Given the description of an element on the screen output the (x, y) to click on. 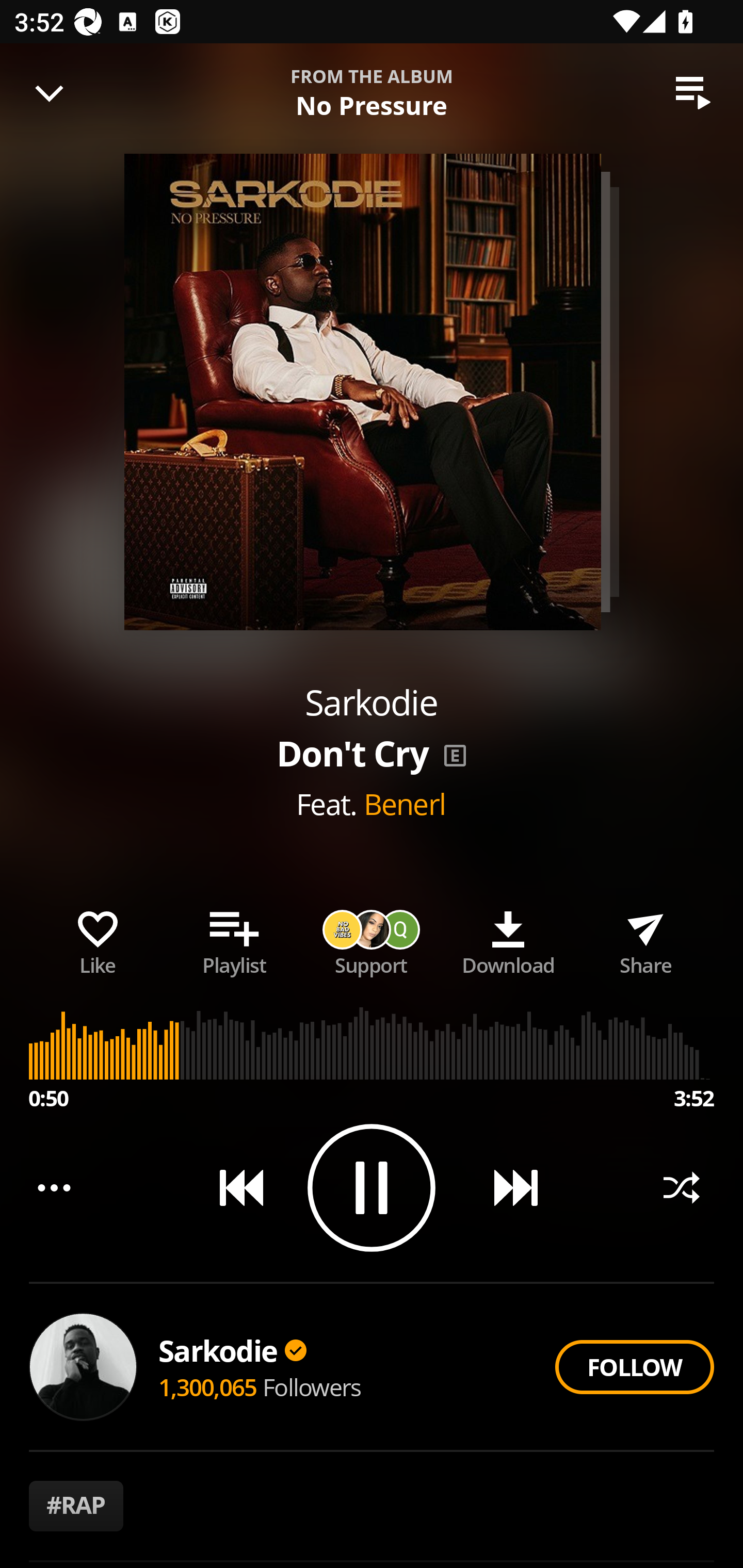
Minimise player (49, 93)
Queue (693, 93)
Don't Cry (305, 83)
Album art (362, 391)
Sarkodie (370, 701)
Like (97, 939)
Add song to playlist Playlist (234, 939)
Support (371, 939)
Download (507, 939)
Share (645, 939)
Play/Pause (371, 1187)
Previous song (233, 1187)
Next song (508, 1187)
Sarkodie (232, 1350)
FOLLOW Follow (634, 1366)
1,300,065 (208, 1386)
#RAP (75, 1505)
